Given the description of an element on the screen output the (x, y) to click on. 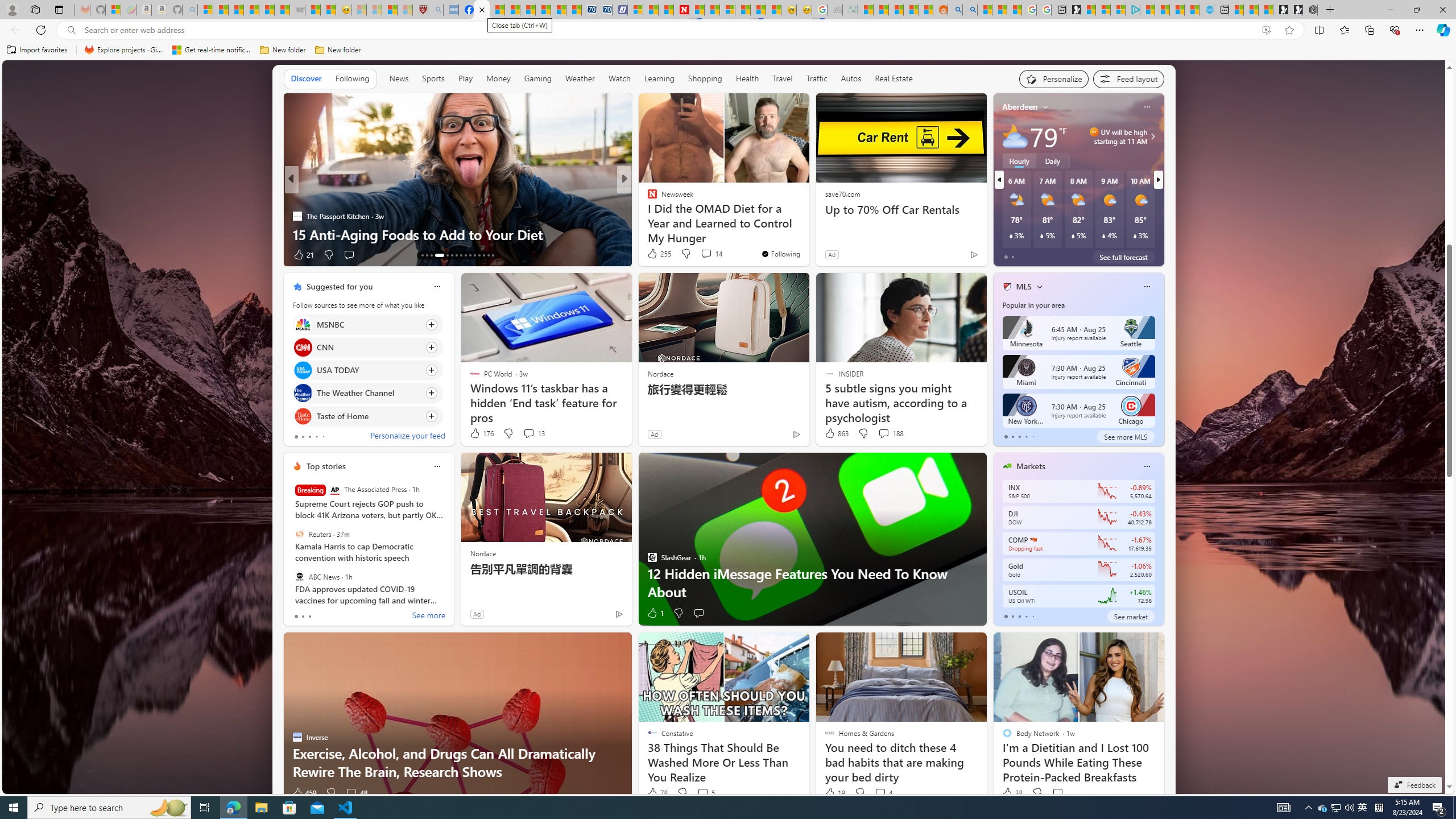
14 Common Myths Debunked By Scientific Facts (711, 9)
News Nation (647, 215)
View comments 23 Comment (703, 254)
USA TODAY (302, 370)
See more MLS (1125, 436)
Feed settings (1128, 78)
